Given the description of an element on the screen output the (x, y) to click on. 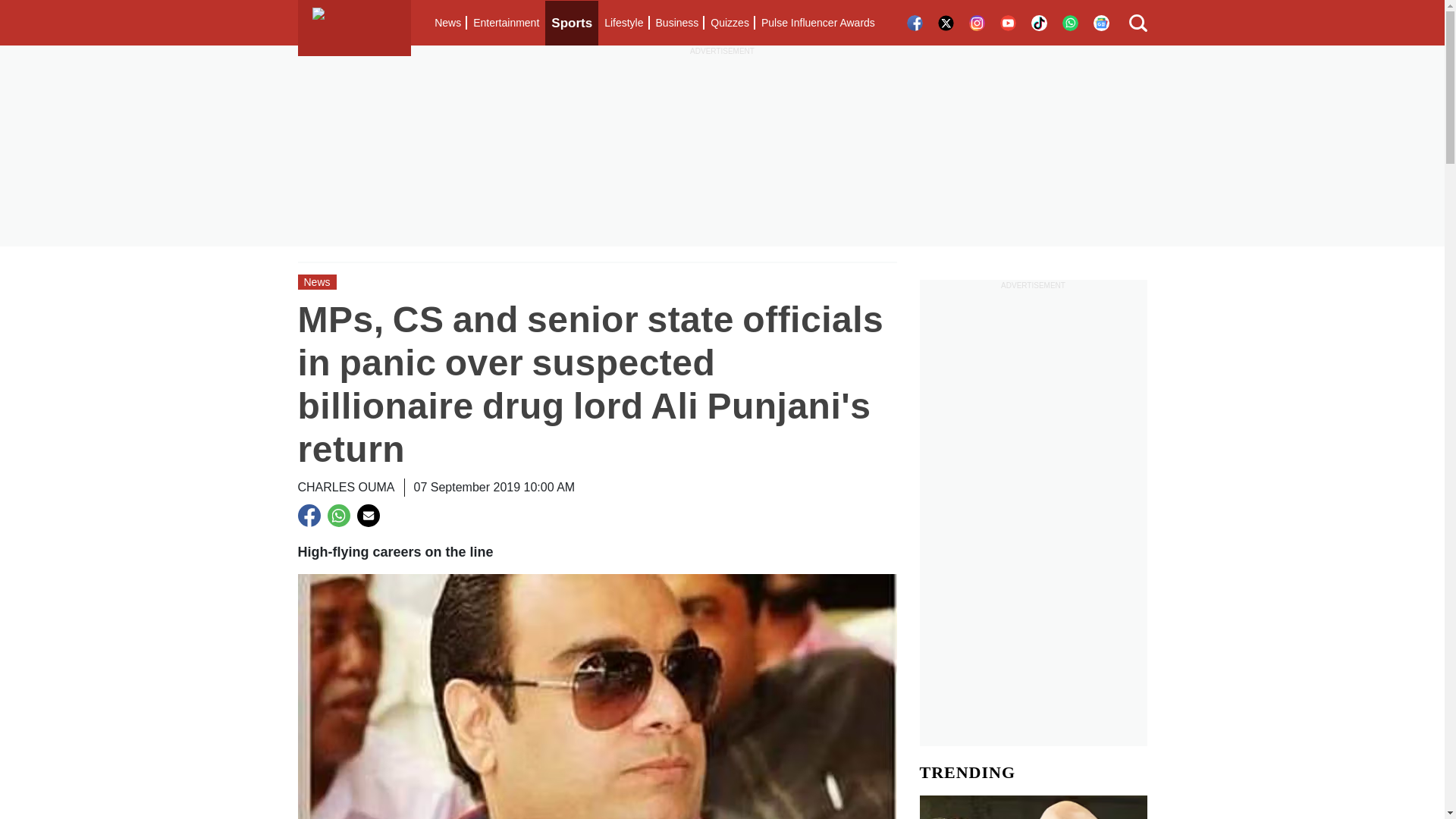
Quizzes (729, 22)
Sports (571, 22)
Lifestyle (623, 22)
Pulse Influencer Awards (817, 22)
Entertainment (505, 22)
Business (676, 22)
